Given the description of an element on the screen output the (x, y) to click on. 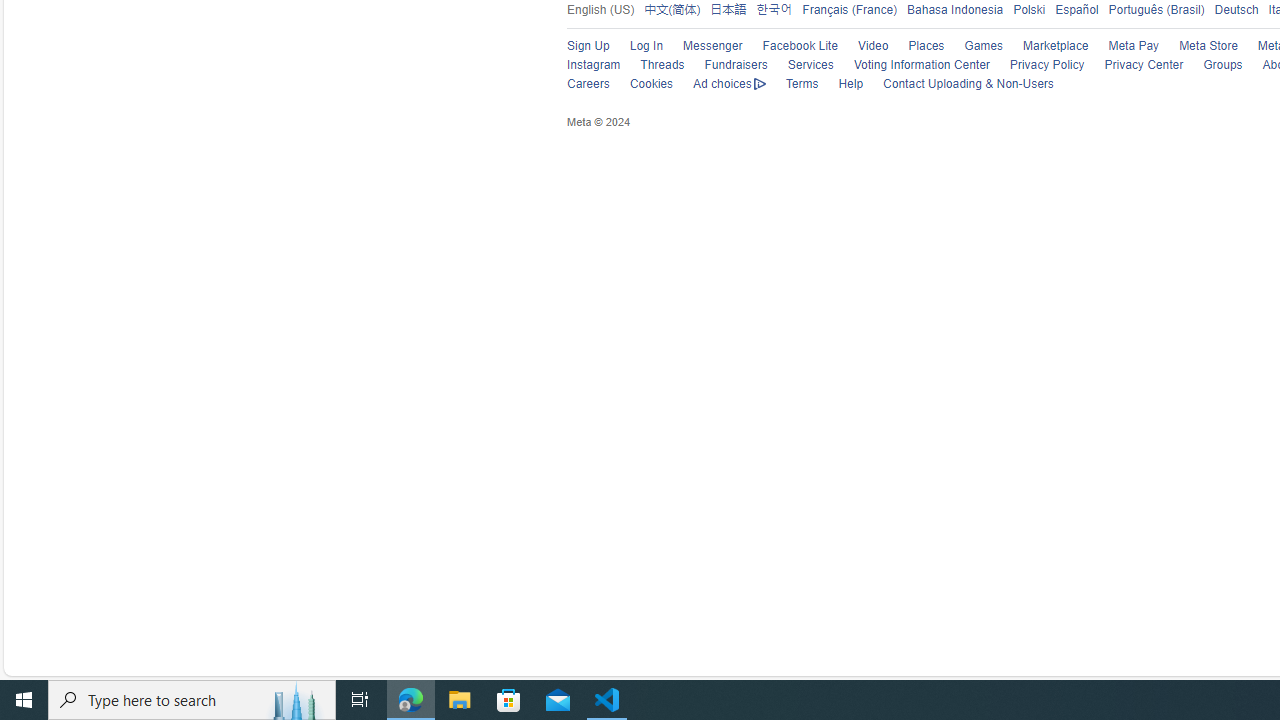
Polski (1028, 9)
Instagram (583, 66)
Groups (1212, 66)
Messenger (702, 46)
Cookies (651, 84)
Cookies (641, 84)
Marketplace (1046, 46)
Ad choices (719, 84)
Fundraisers (736, 65)
Terms (801, 84)
Bahasa Indonesia (950, 9)
Meta Pay (1133, 45)
Privacy Center (1134, 66)
